Given the description of an element on the screen output the (x, y) to click on. 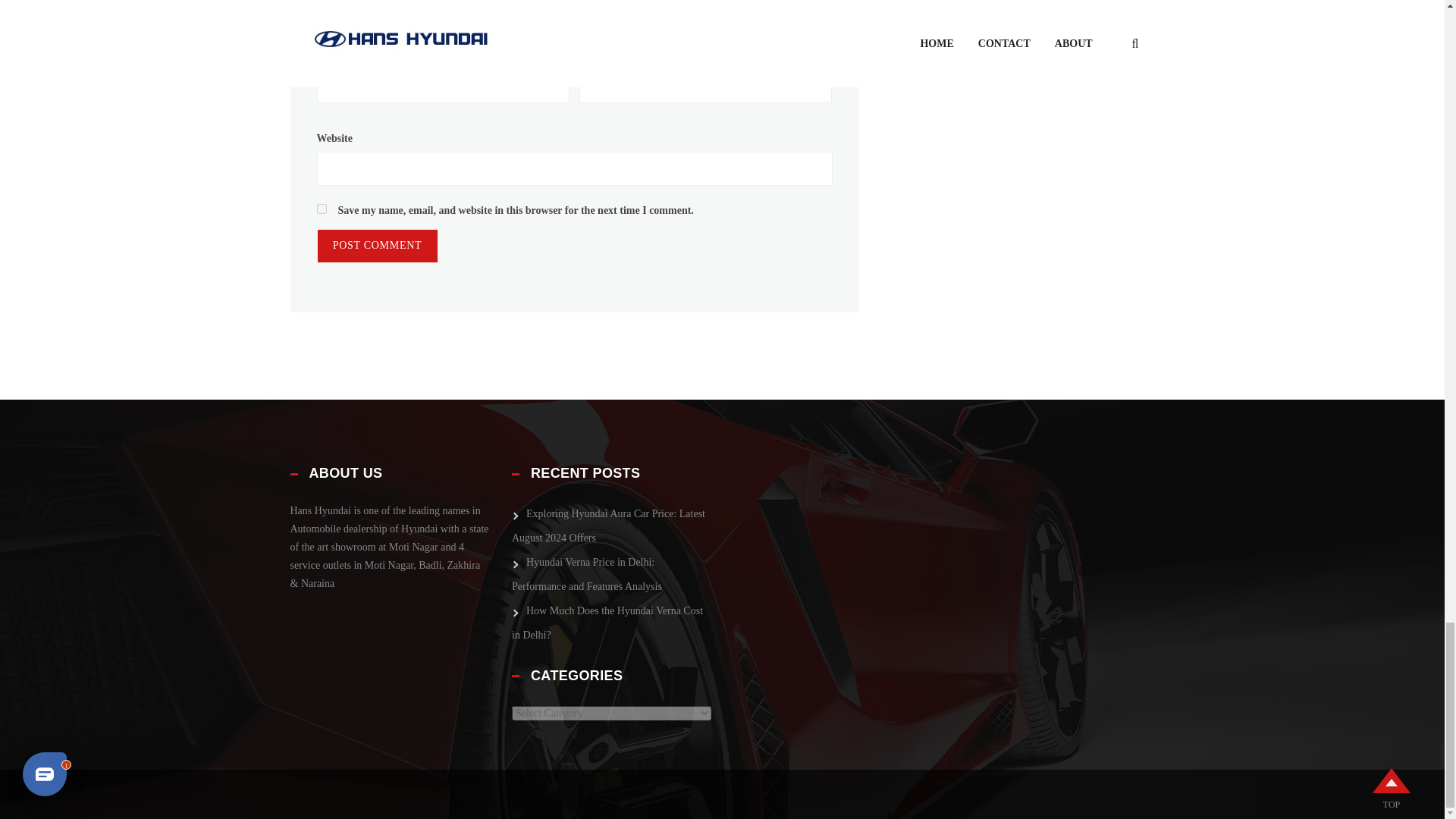
Post Comment (377, 245)
yes (321, 208)
Post Comment (377, 245)
TOP (1391, 804)
Exploring Hyundai Aura Car Price: Latest August 2024 Offers (608, 527)
How Much Does the Hyundai Verna Cost in Delhi? (607, 625)
